Given the description of an element on the screen output the (x, y) to click on. 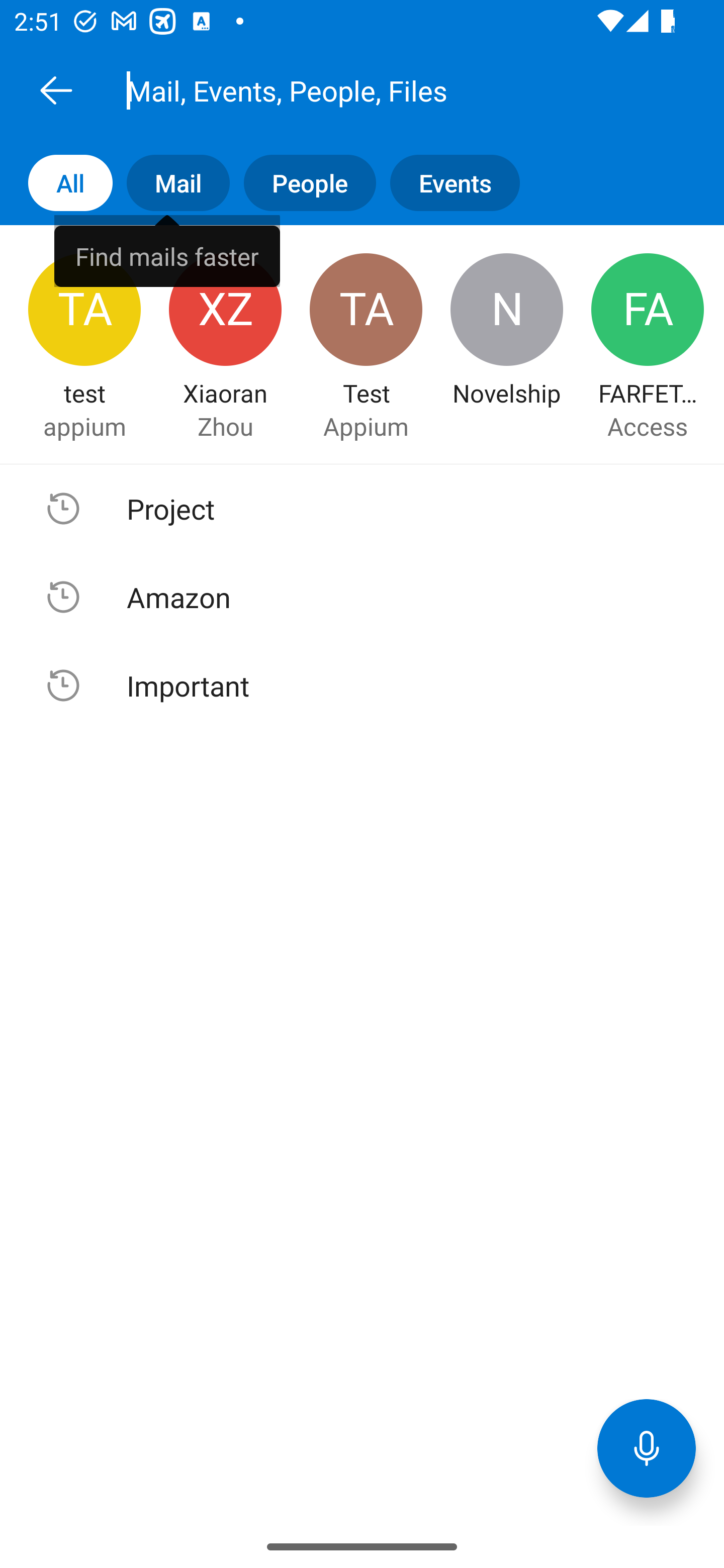
Find mails faster (167, 250)
